Given the description of an element on the screen output the (x, y) to click on. 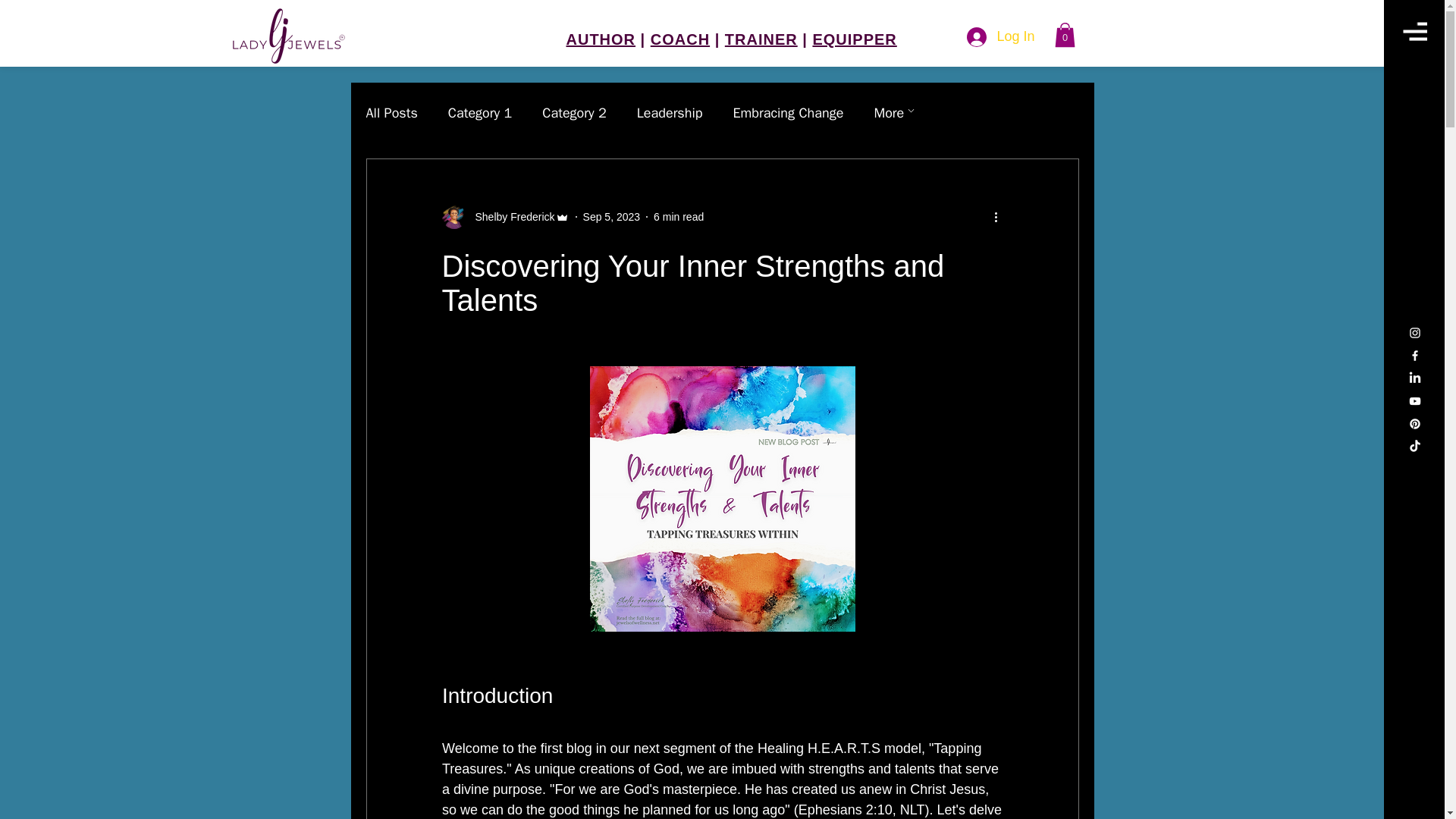
AUTHOR (600, 39)
All Posts (390, 113)
Shelby Frederick (505, 216)
Log In (980, 36)
EQUIPPER (854, 39)
6 min read (678, 216)
Sep 5, 2023 (611, 216)
COACH (680, 39)
Shelby Frederick (509, 217)
Category 2 (574, 113)
